Given the description of an element on the screen output the (x, y) to click on. 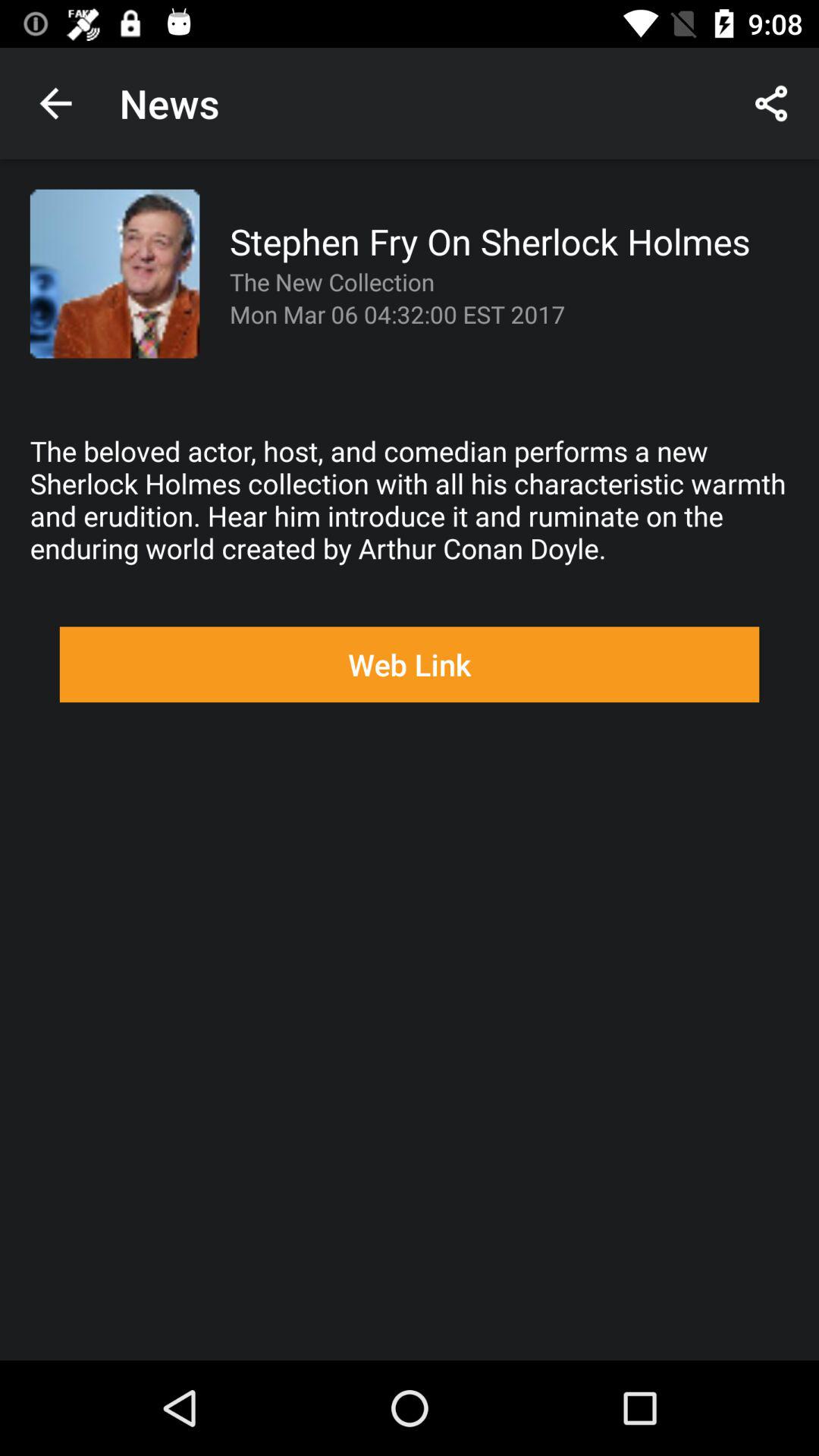
click icon next to news (55, 103)
